Given the description of an element on the screen output the (x, y) to click on. 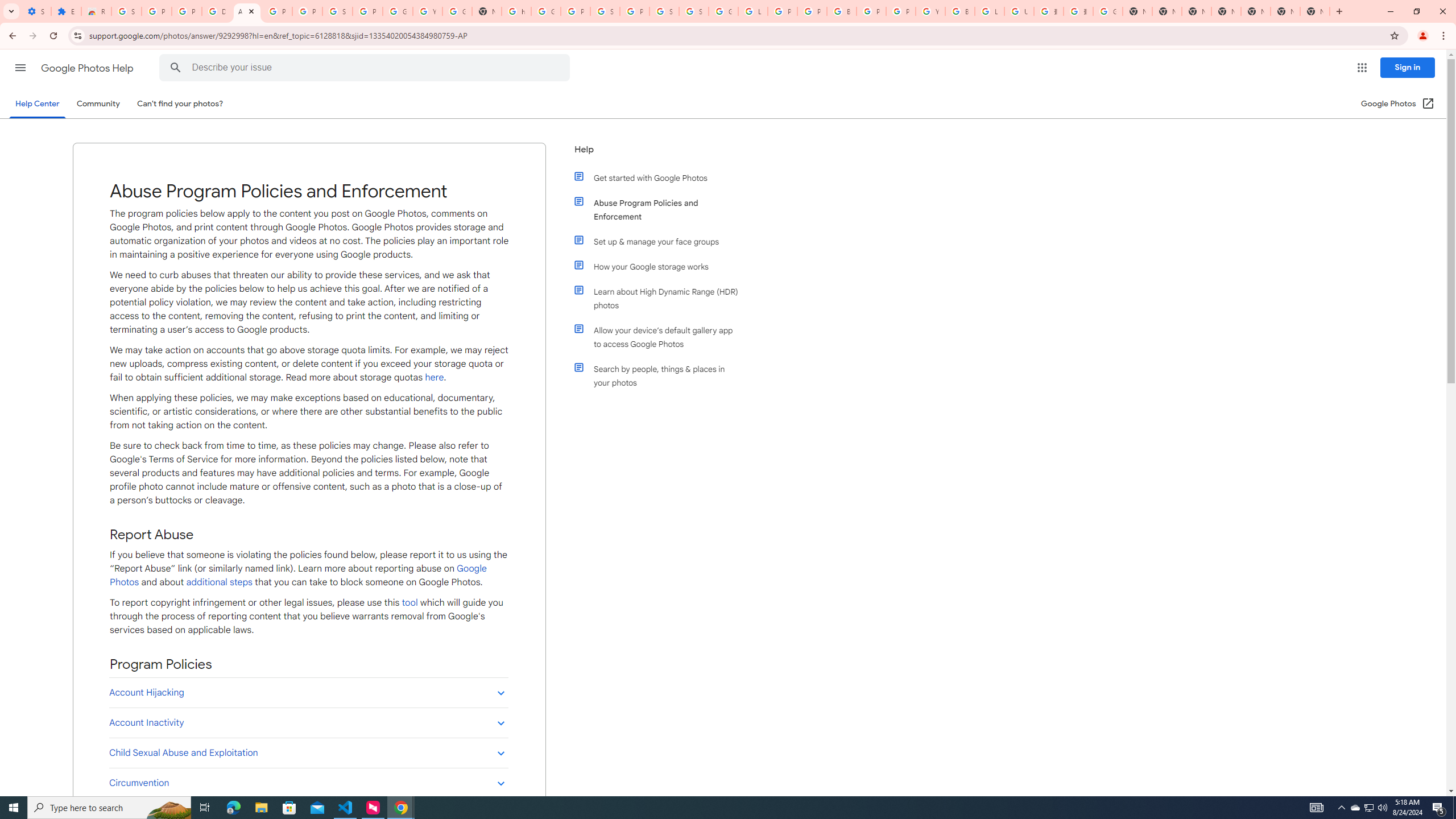
https://scholar.google.com/ (515, 11)
Community (97, 103)
Account Hijacking (308, 692)
Extensions (65, 11)
Delete photos & videos - Computer - Google Photos Help (216, 11)
